Given the description of an element on the screen output the (x, y) to click on. 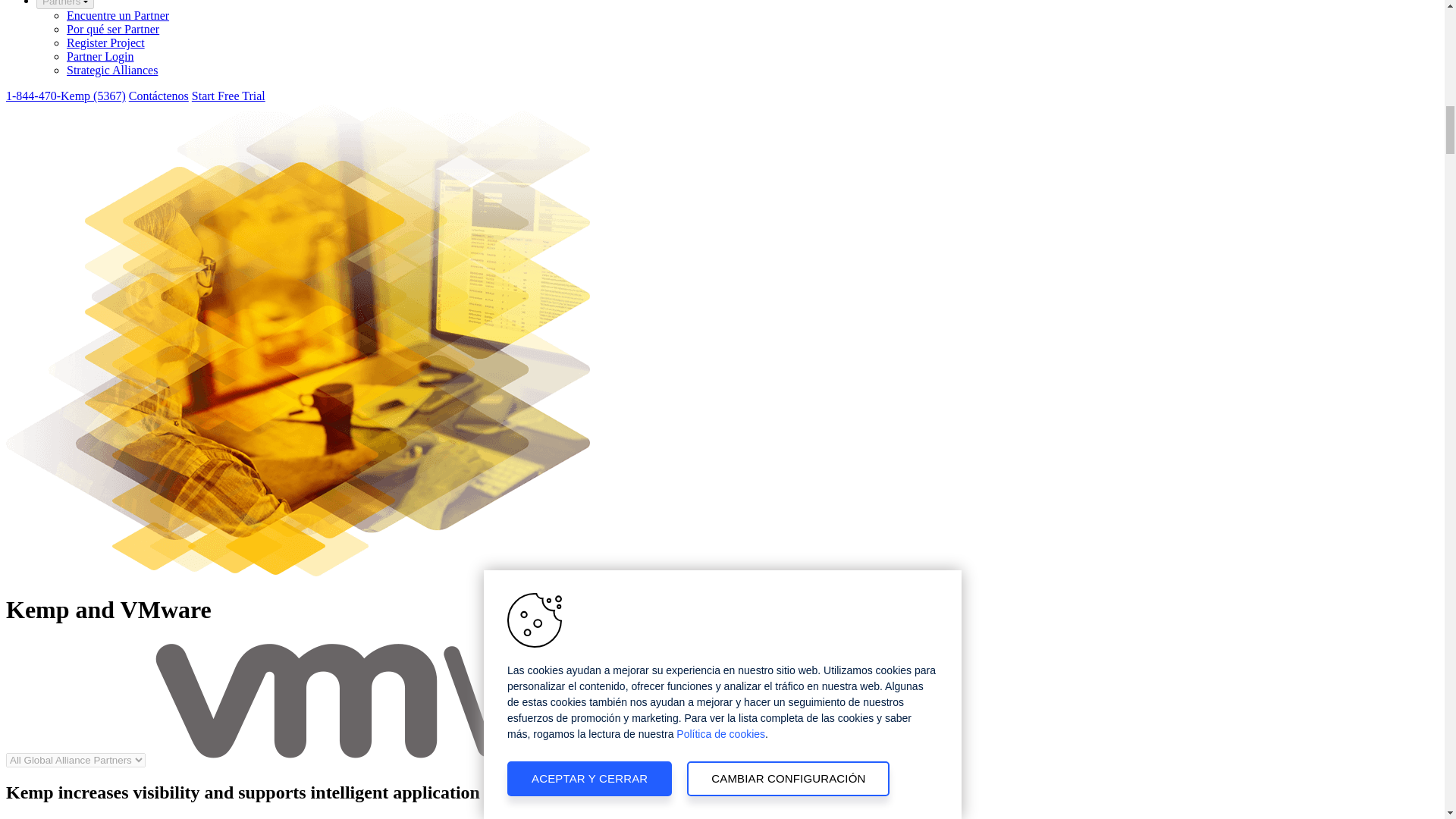
vmware (527, 701)
